Given the description of an element on the screen output the (x, y) to click on. 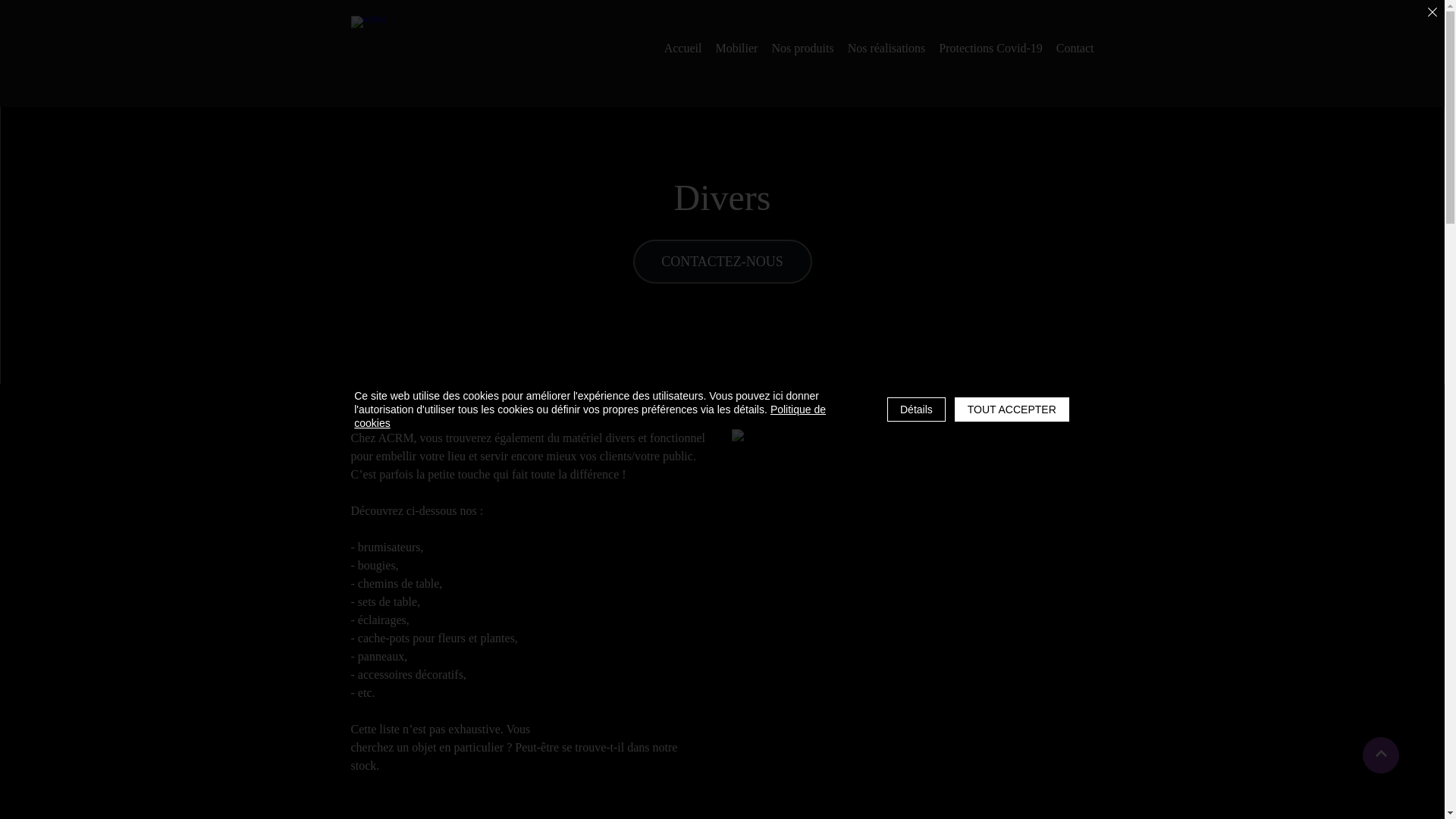
Accueil Element type: text (683, 48)
Contact Element type: text (1075, 48)
CONTACTEZ-NOUS Element type: text (721, 261)
Nos produits Element type: text (802, 48)
Protections Covid-19 Element type: text (989, 48)
Mobilier Element type: text (736, 48)
